Given the description of an element on the screen output the (x, y) to click on. 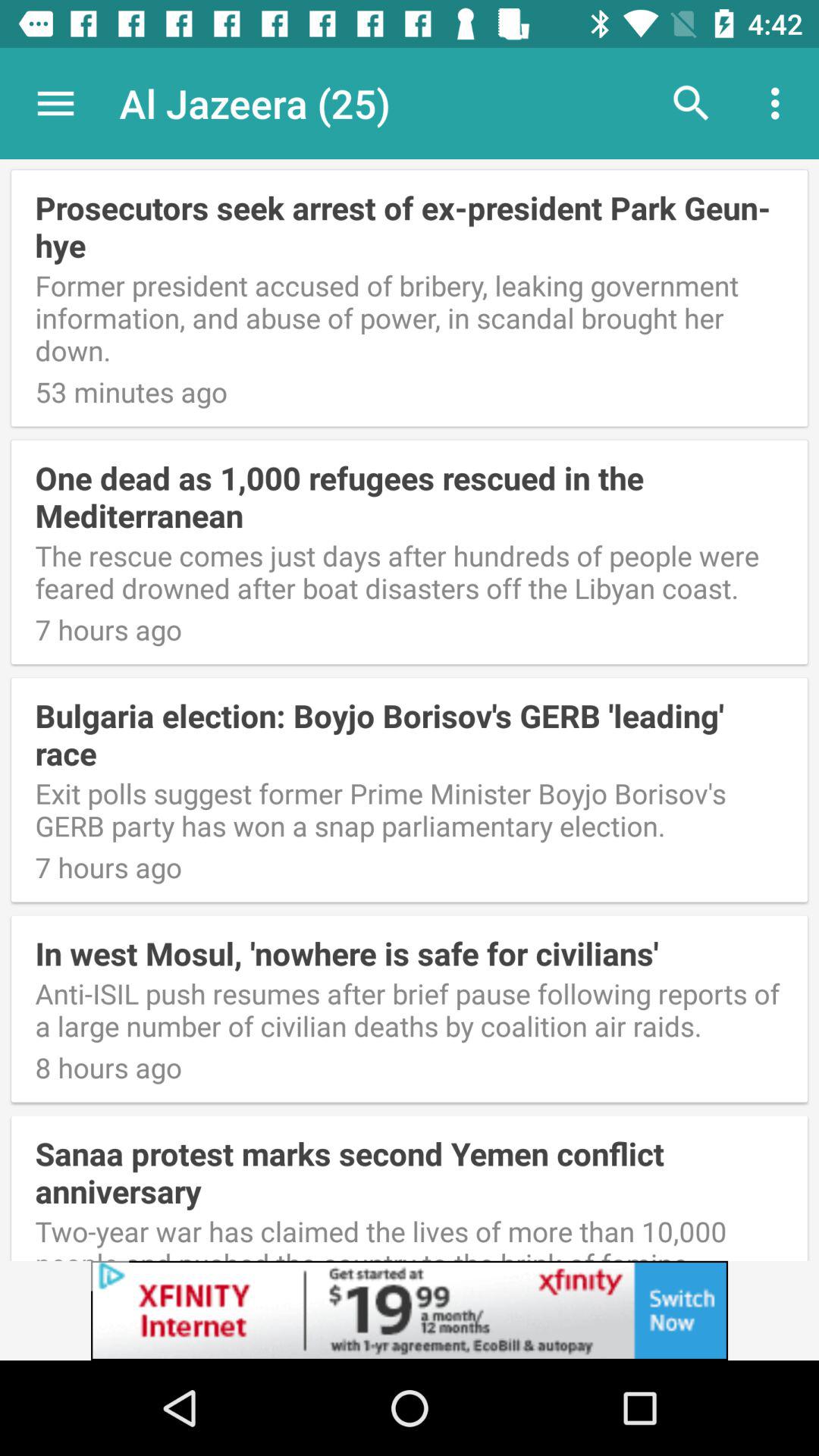
select icon to the left of al jazeera (25) app (55, 103)
